Given the description of an element on the screen output the (x, y) to click on. 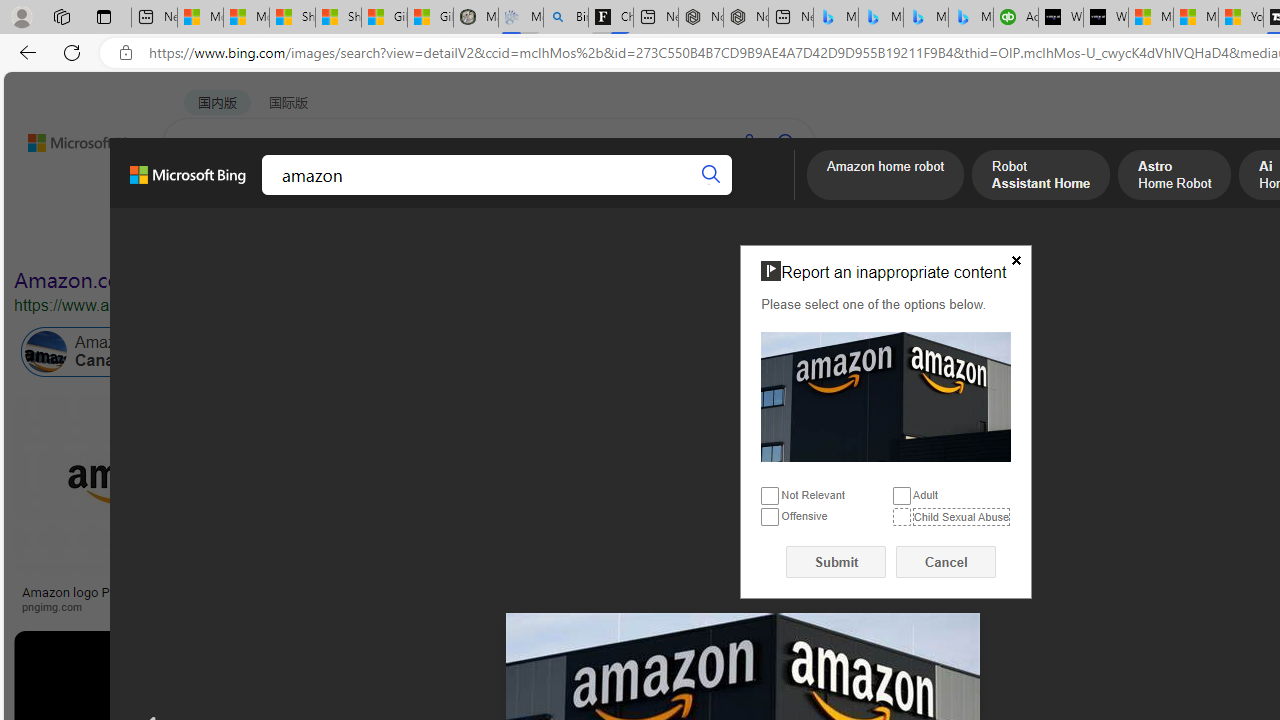
Listen: What's next for Amazon?usatoday.comSave (713, 508)
Robot Assistant Home (1041, 177)
Color (305, 237)
aiophotoz.com (941, 605)
Amazon Animals (706, 351)
Listen: What's next for Amazon? (639, 592)
Amazon India (893, 351)
Offensive (770, 517)
aiophotoz.com (983, 606)
WEB (201, 195)
Amazon Canada Online (114, 351)
